Given the description of an element on the screen output the (x, y) to click on. 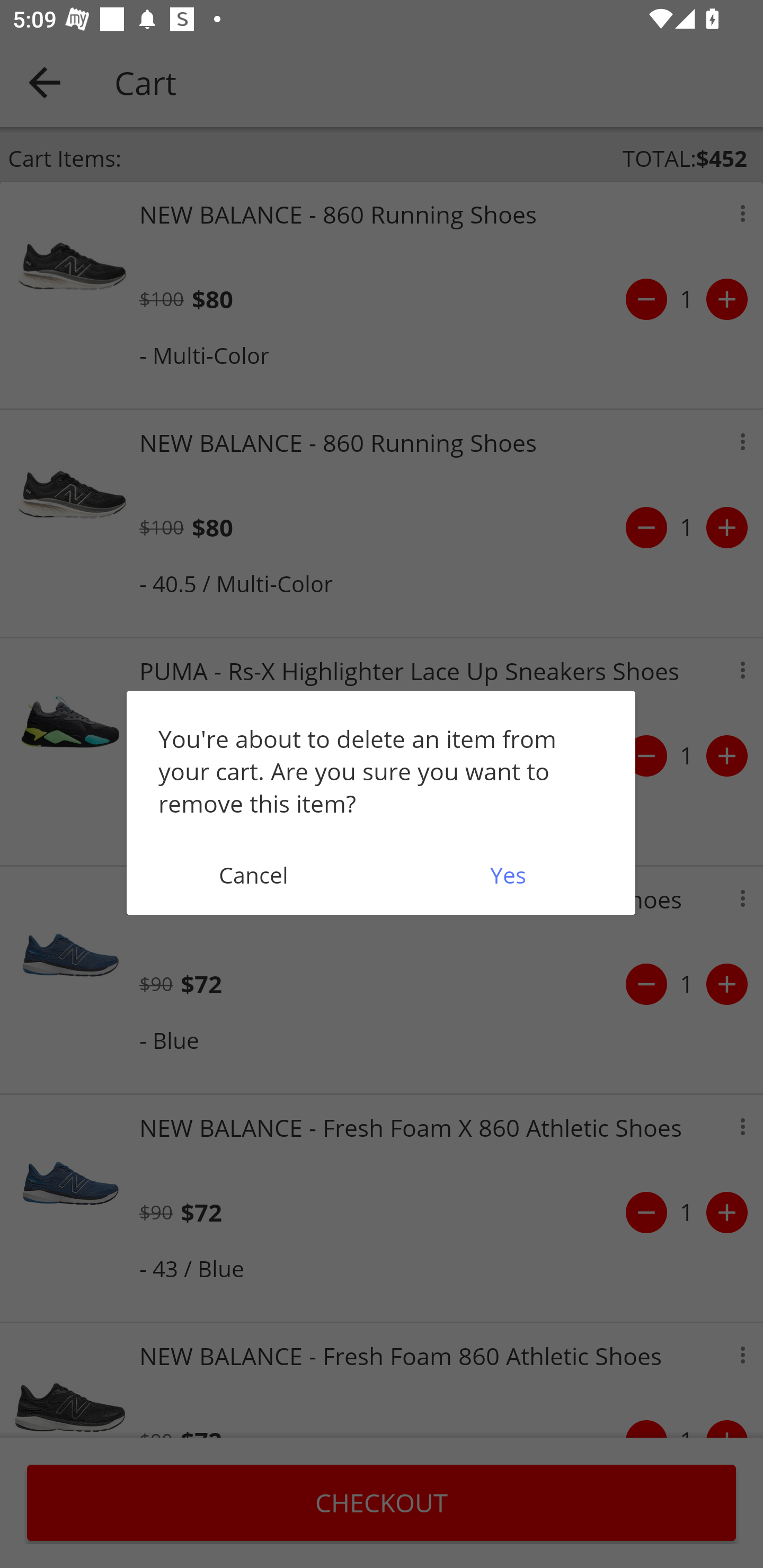
Cancel (253, 874)
Yes (507, 874)
